Given the description of an element on the screen output the (x, y) to click on. 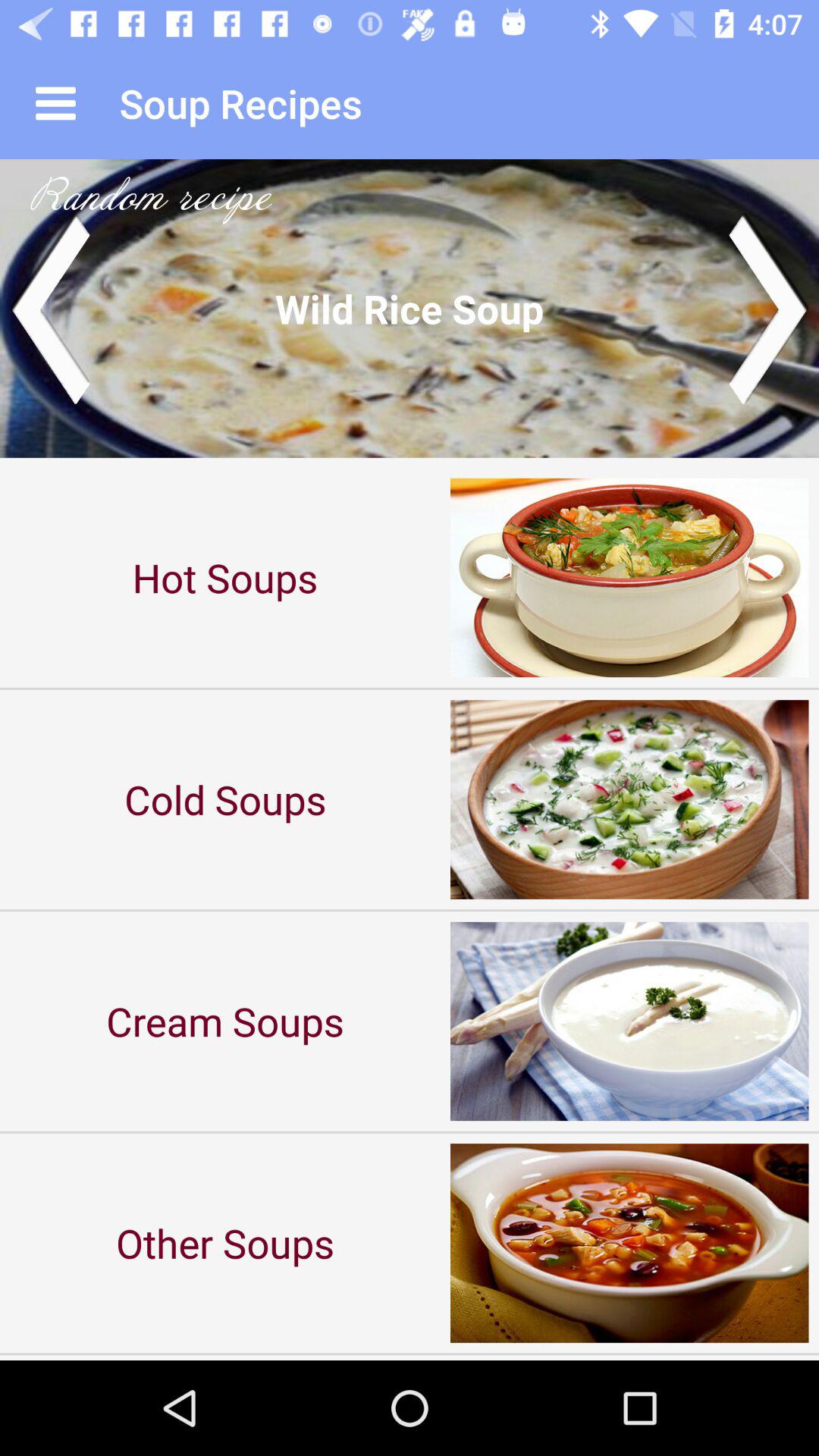
next image (769, 308)
